Given the description of an element on the screen output the (x, y) to click on. 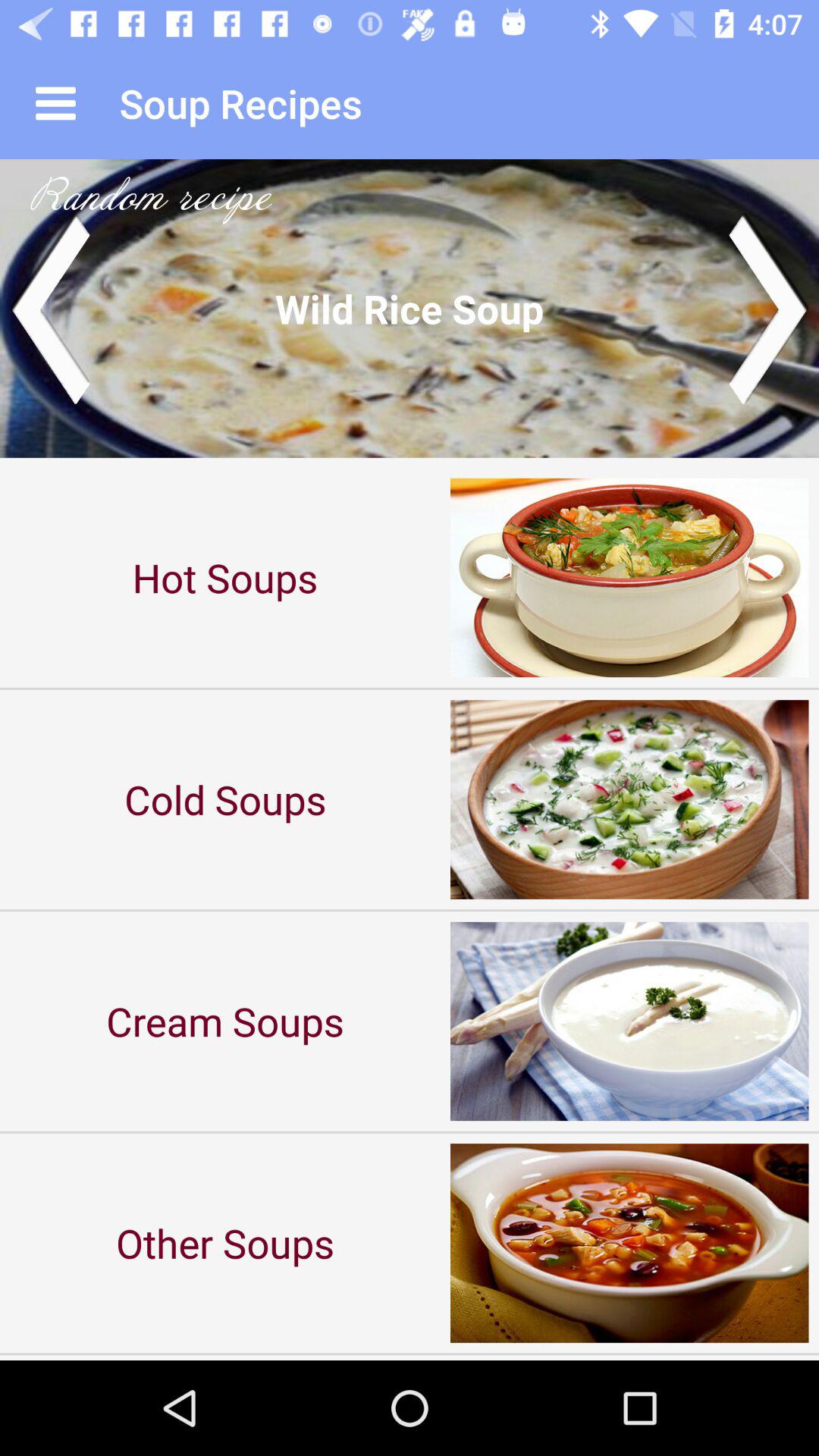
next image (769, 308)
